Given the description of an element on the screen output the (x, y) to click on. 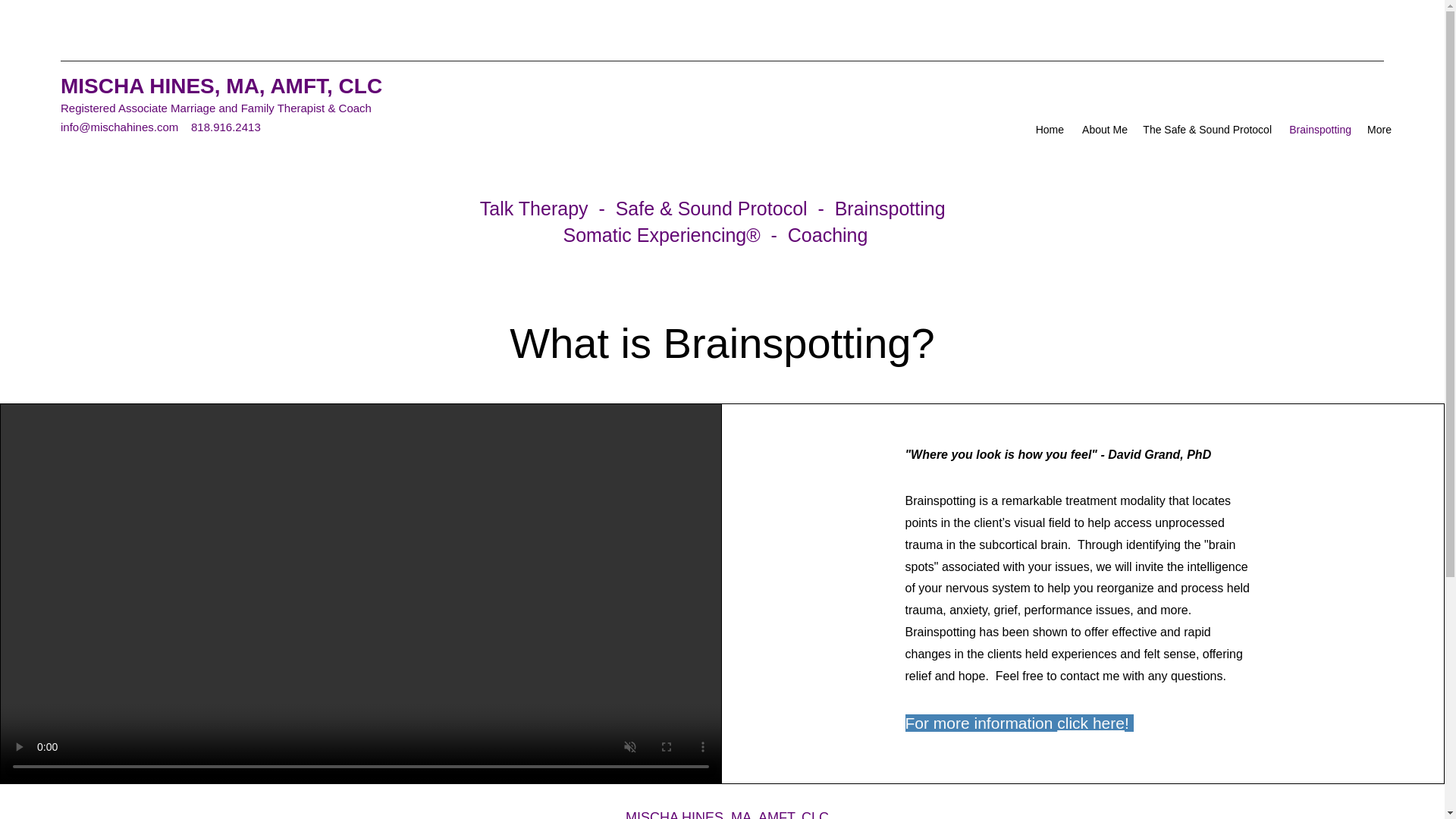
click here (1090, 723)
About Me (1103, 128)
Brainspotting (1318, 128)
